Given the description of an element on the screen output the (x, y) to click on. 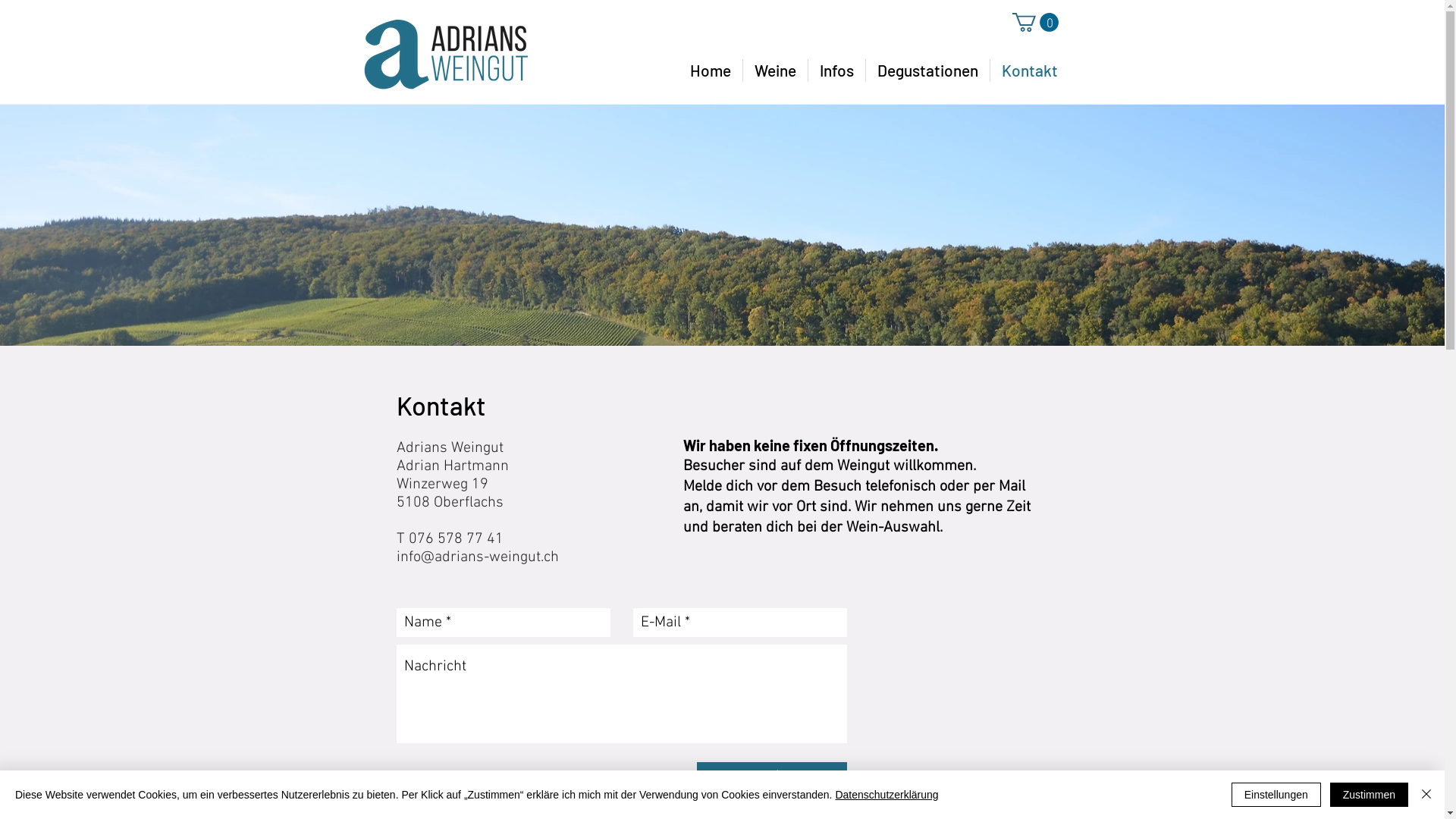
senden Element type: text (771, 776)
Logo_Adrians_Weingut_weiss.png Element type: hover (445, 54)
Home Element type: text (709, 70)
Einstellungen Element type: text (1276, 794)
info@adrians-weingut.ch Element type: text (476, 557)
076 578 77 41 Element type: text (454, 539)
Zustimmen Element type: text (1369, 794)
Kontakt Element type: text (1029, 70)
0 Element type: text (1034, 21)
